Given the description of an element on the screen output the (x, y) to click on. 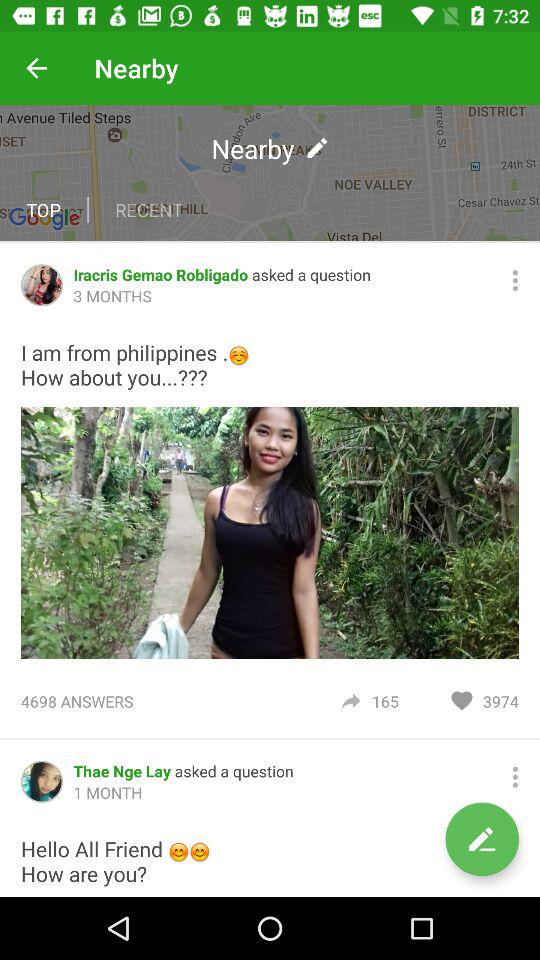
launch icon next to the nearby app (36, 68)
